Given the description of an element on the screen output the (x, y) to click on. 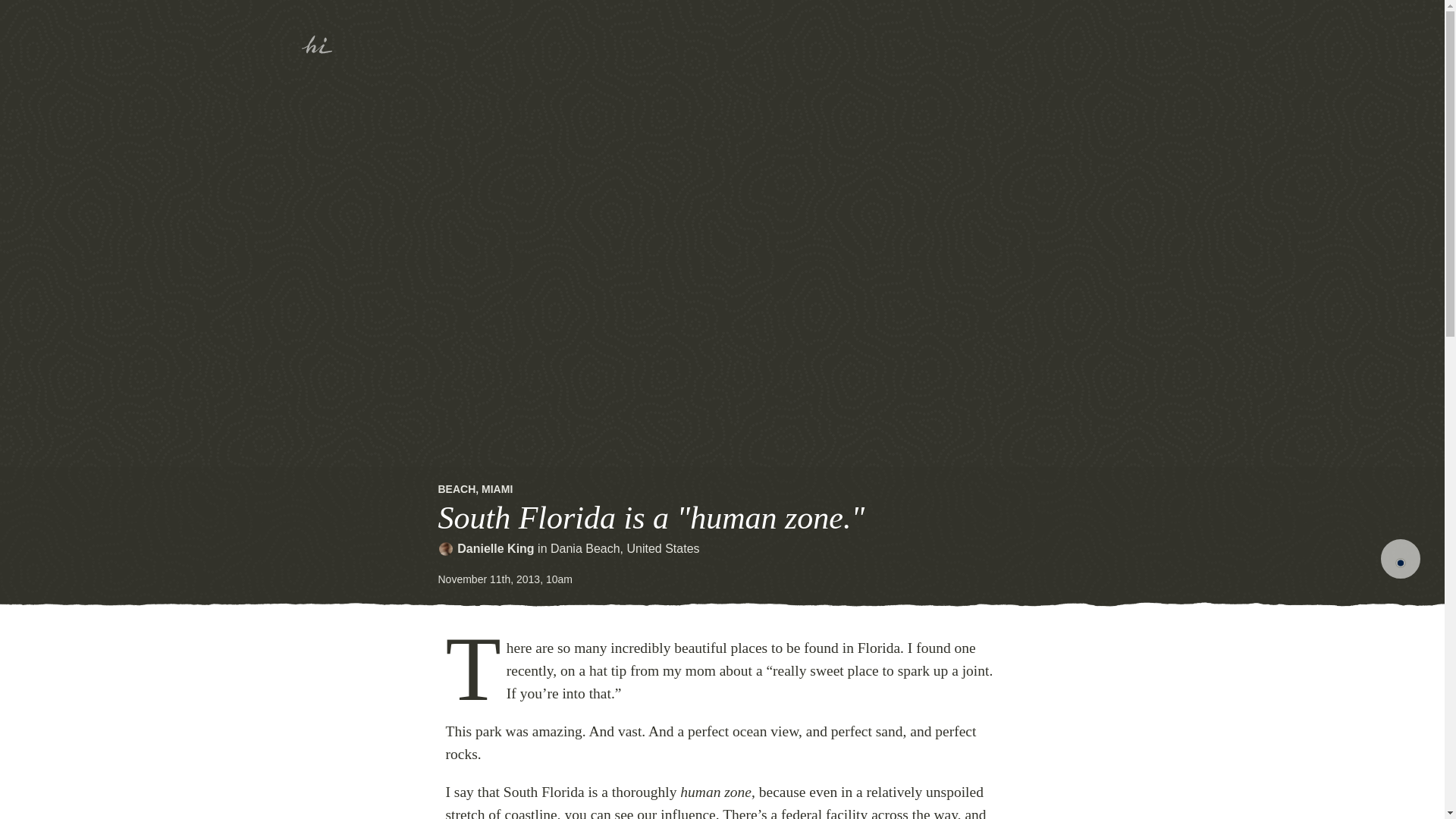
BEACH (457, 489)
Dania Beach, United States (625, 548)
Danielle King (495, 548)
MIAMI (496, 489)
